Given the description of an element on the screen output the (x, y) to click on. 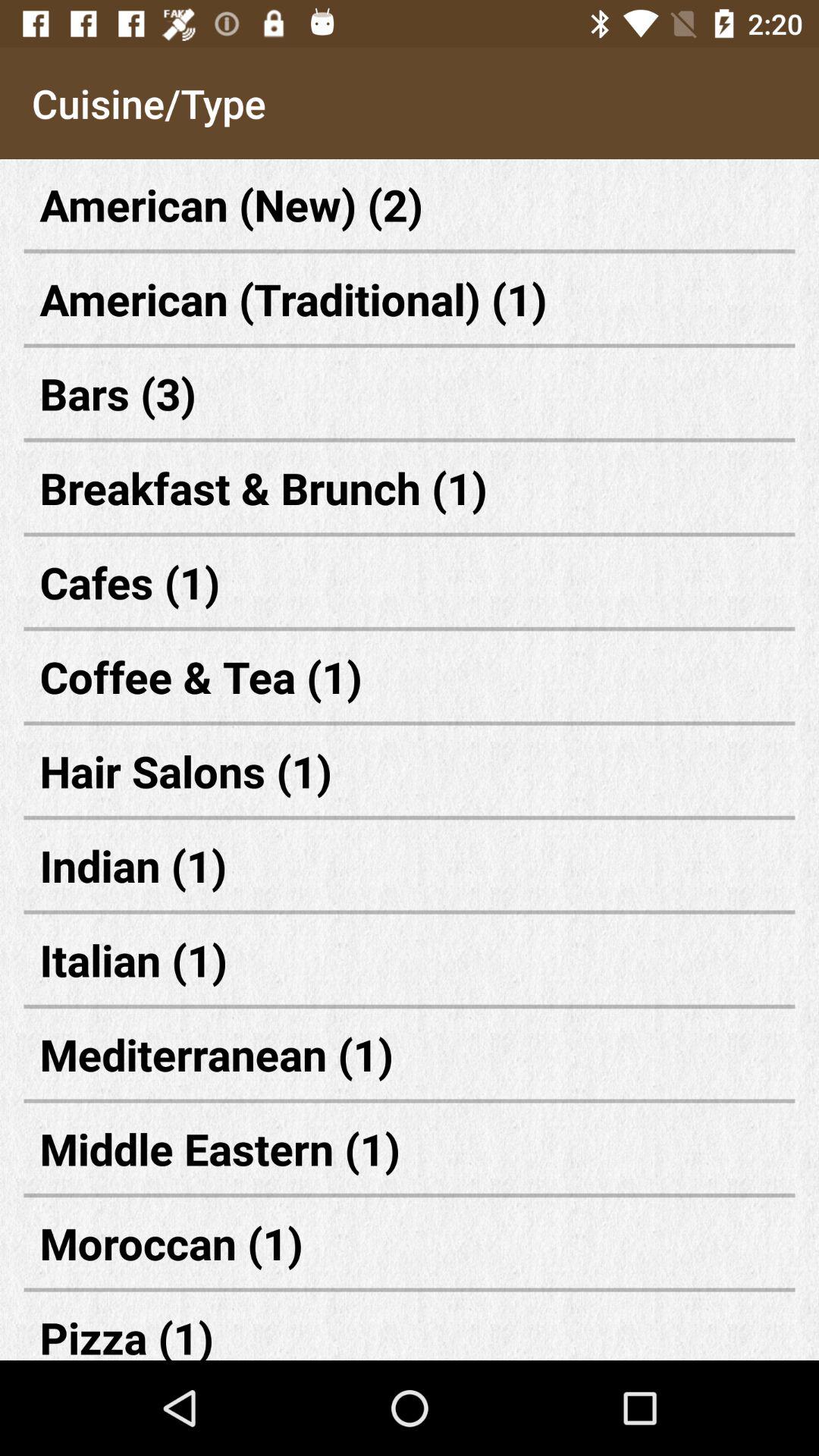
jump until the american (traditional) (1) (409, 298)
